Given the description of an element on the screen output the (x, y) to click on. 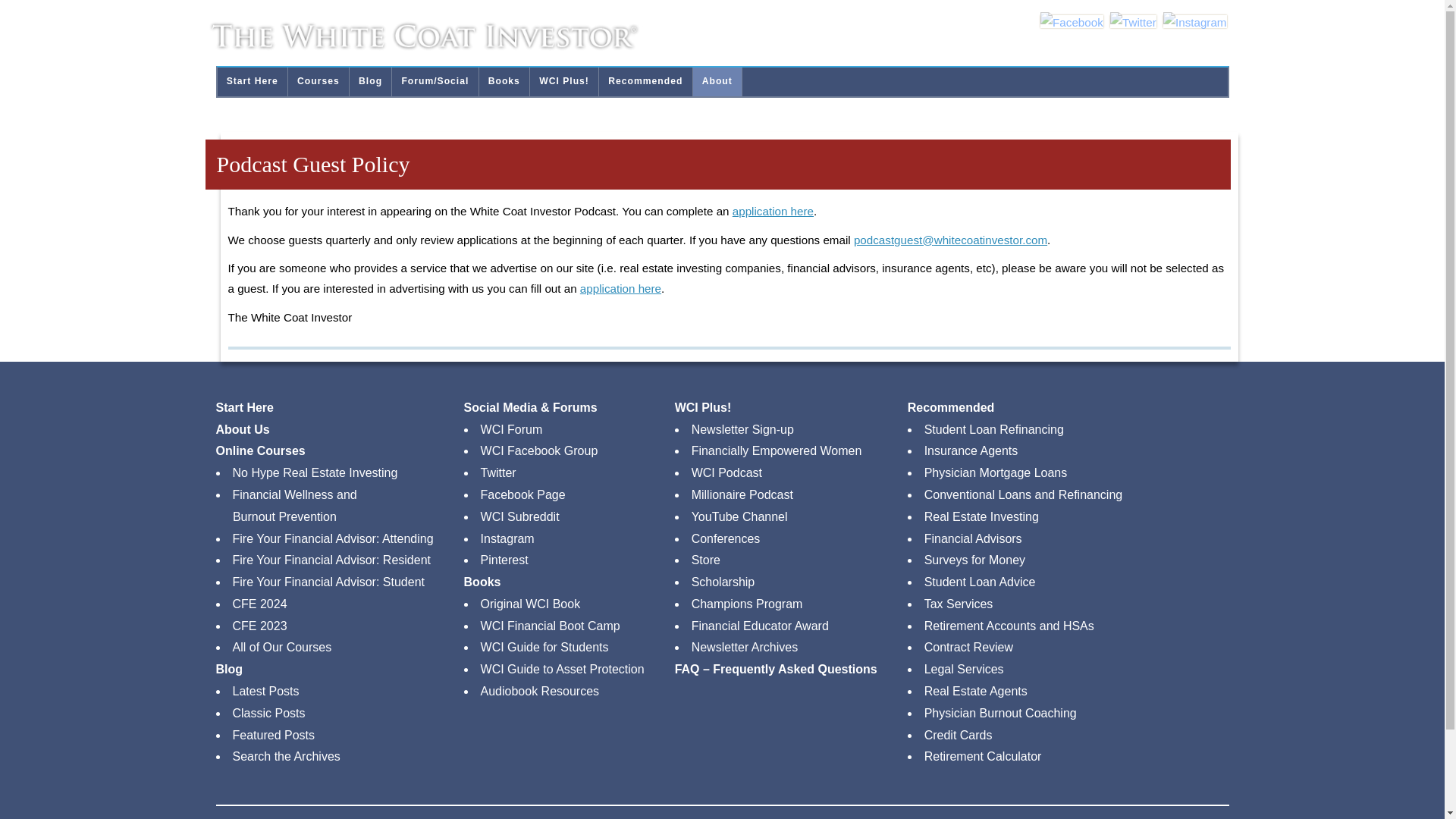
Blog (370, 81)
Courses (318, 81)
Facebook (1072, 22)
WCI Plus! (563, 81)
Books (504, 81)
Twitter (1132, 22)
Instagram (1195, 22)
Start Here (251, 81)
